Given the description of an element on the screen output the (x, y) to click on. 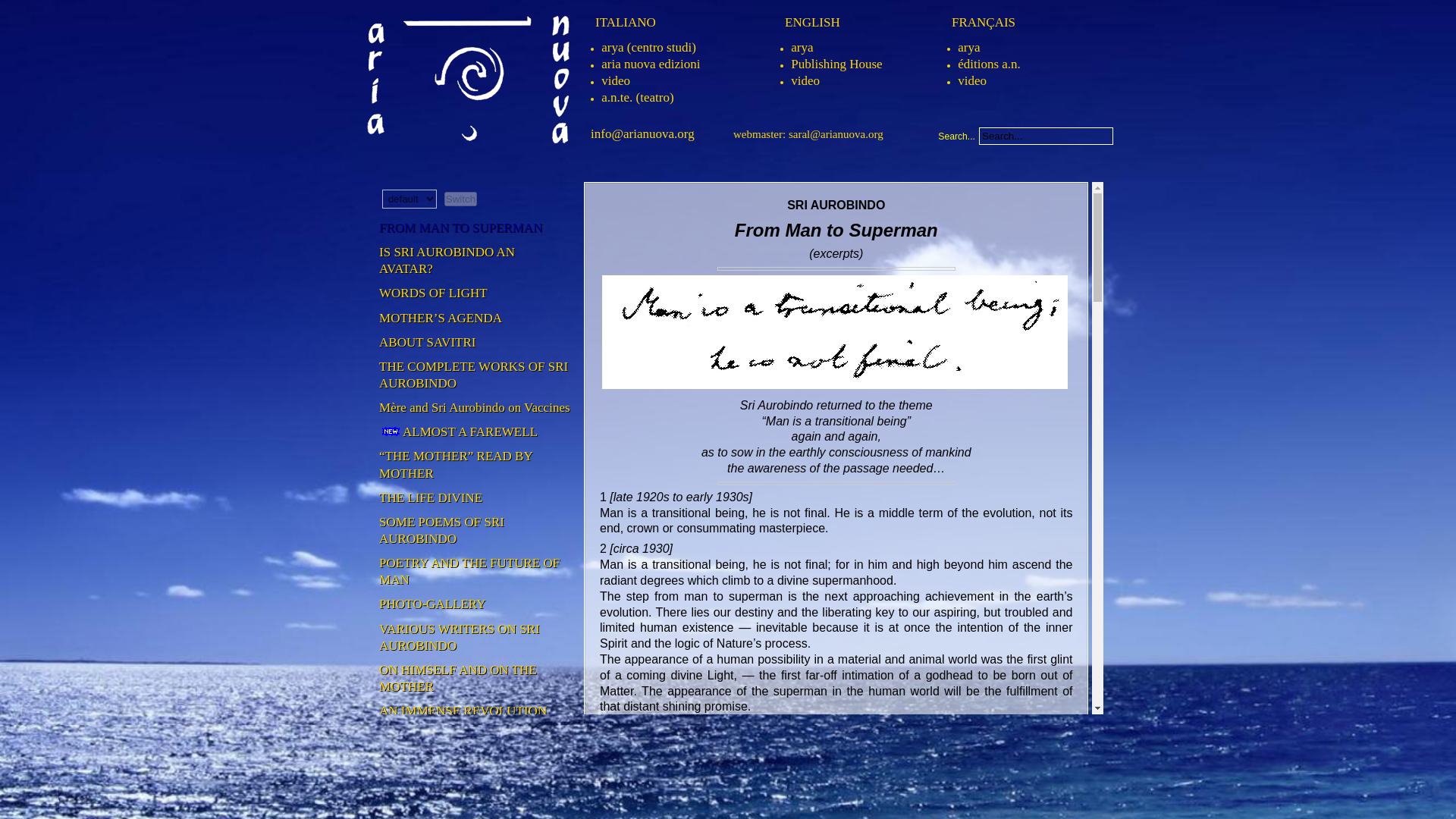
Search... (1045, 135)
arya (968, 47)
aria nuova edizioni (650, 63)
video (615, 80)
video (972, 80)
ITALIANO (625, 22)
video (804, 80)
Publishing House (836, 63)
arya (801, 47)
ENGLISH (812, 22)
